Given the description of an element on the screen output the (x, y) to click on. 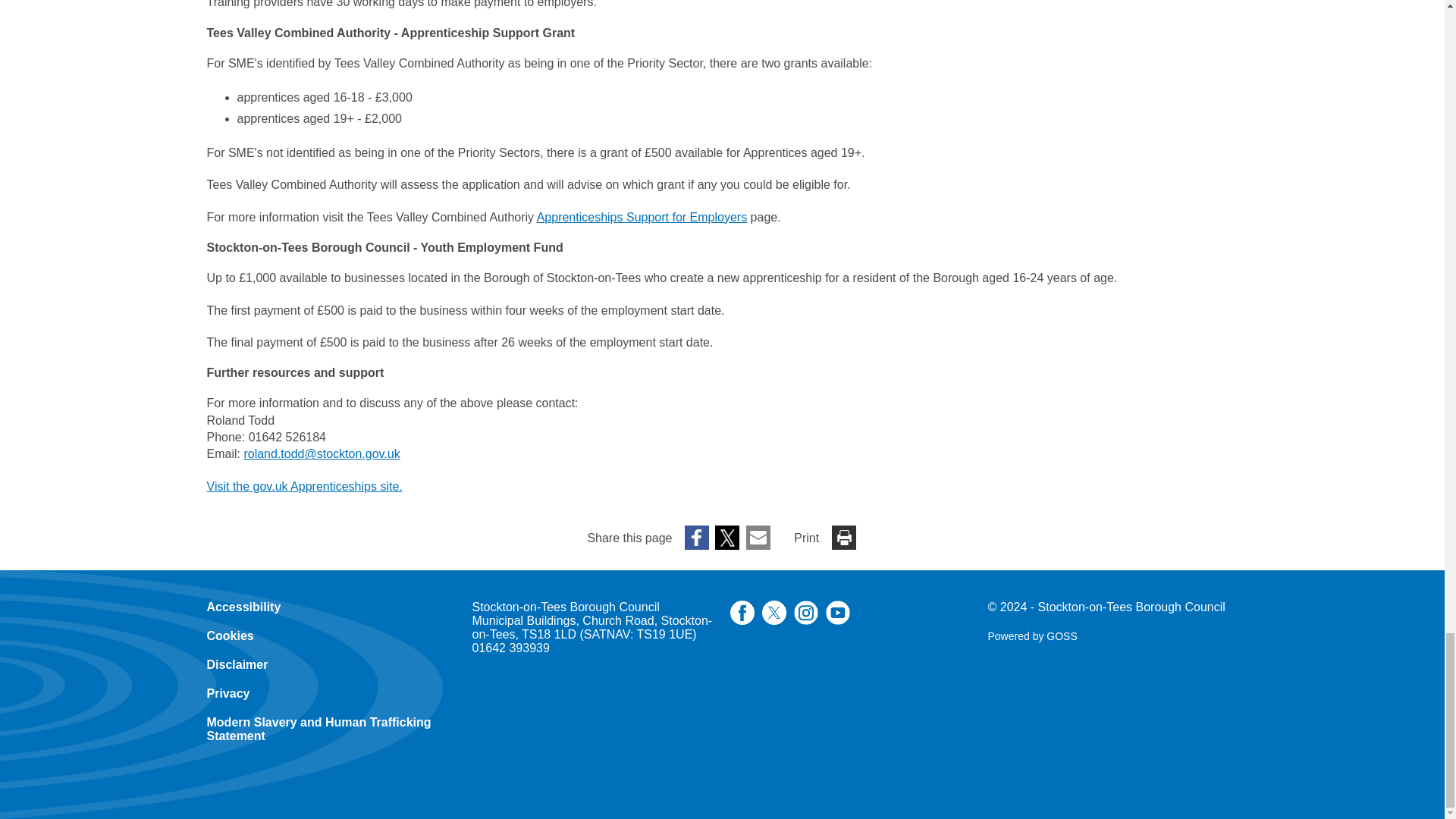
Apprenticeships Support for Employers (641, 216)
Cookies (229, 635)
Accessibility (243, 606)
Stockton Council - YouTube (836, 620)
Visit the gov.uk Apprenticeships site. (303, 486)
Privacy (227, 693)
Stockton Council  - Twitter (773, 620)
Stockton Council - Instagram (804, 620)
Disclaimer (236, 664)
Stockton Council - Facebook (741, 620)
